Given the description of an element on the screen output the (x, y) to click on. 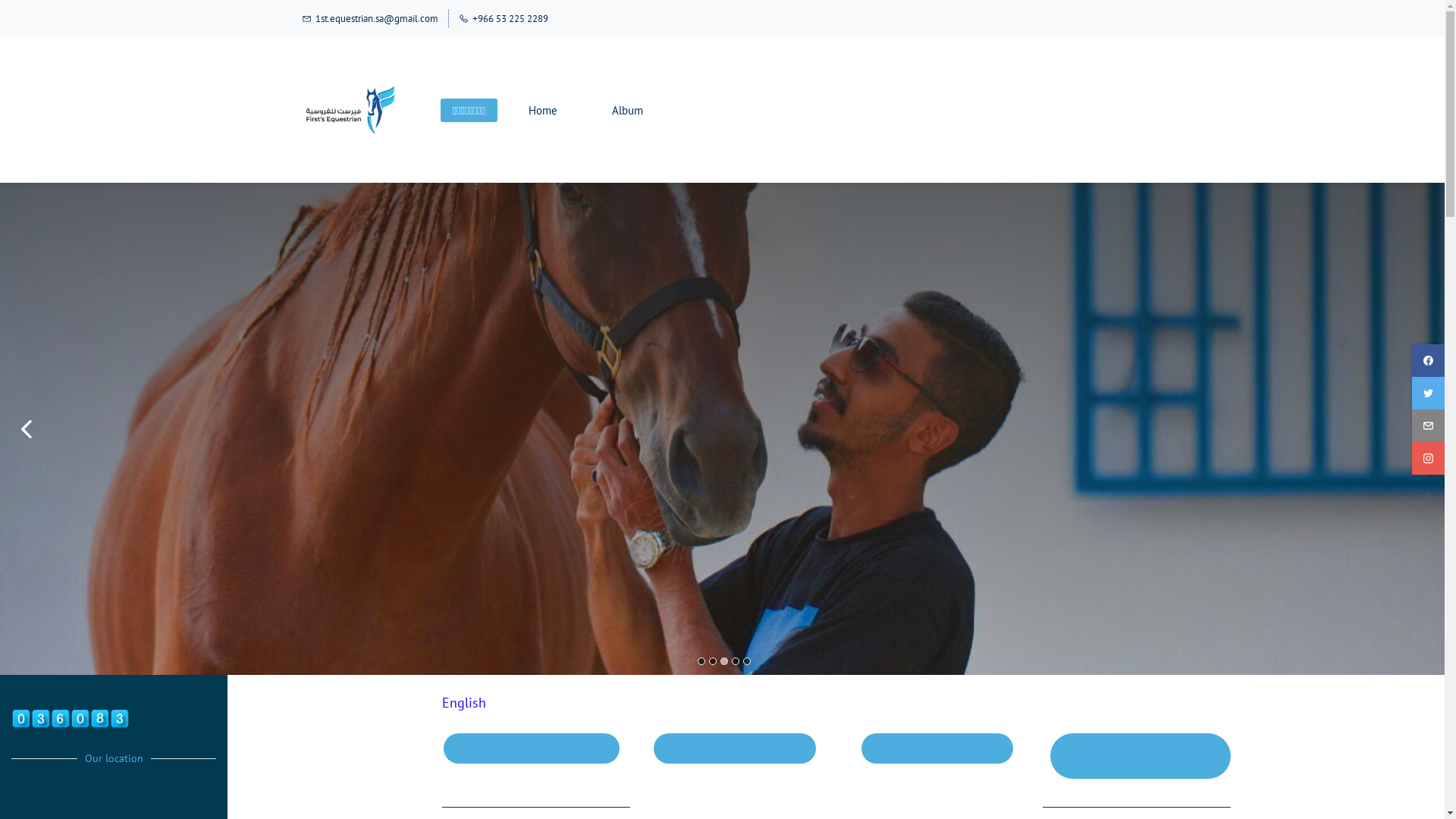
1st.equestrian.sa@gmail.com Element type: text (369, 18)
website counter Element type: hover (70, 716)
Home Element type: text (542, 110)
+966 53 225 2289 Element type: text (502, 18)
website counter Element type: hover (70, 718)
English Element type: text (463, 702)
